Given the description of an element on the screen output the (x, y) to click on. 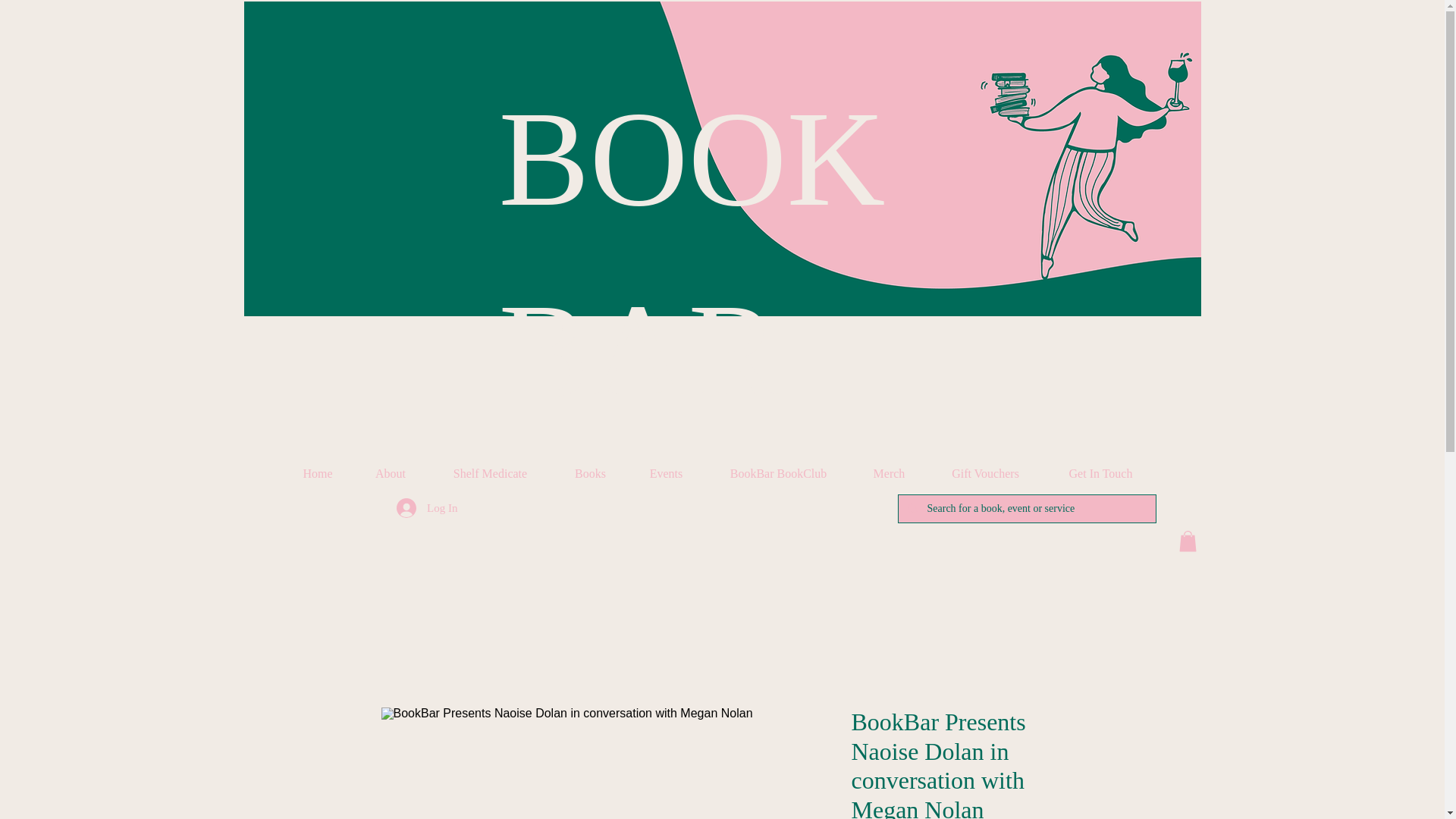
Events (665, 474)
Merch (888, 474)
Books (590, 474)
About (389, 474)
Shelf Medicate (490, 474)
Home (317, 474)
Log In (426, 507)
BookBar BookClub (777, 474)
Get In Touch (1101, 474)
Gift Vouchers (985, 474)
